Given the description of an element on the screen output the (x, y) to click on. 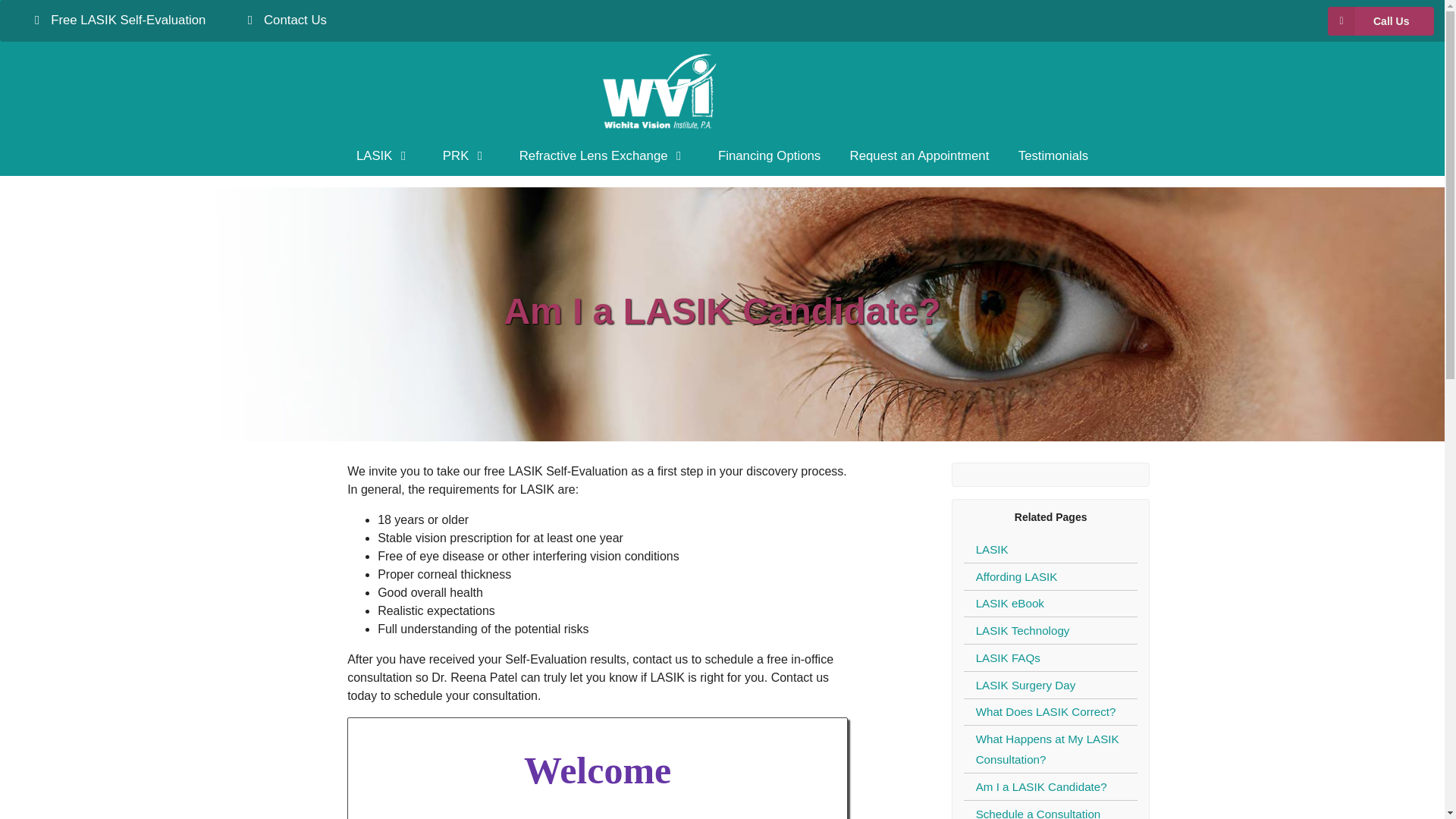
PRK (465, 156)
Contact Us (284, 20)
Financing Options (769, 155)
Request an Appointment (918, 155)
Free LASIK Self-Evaluation (117, 20)
Refractive Lens Exchange (603, 156)
Testimonials (1053, 155)
LASIK (384, 156)
